Given the description of an element on the screen output the (x, y) to click on. 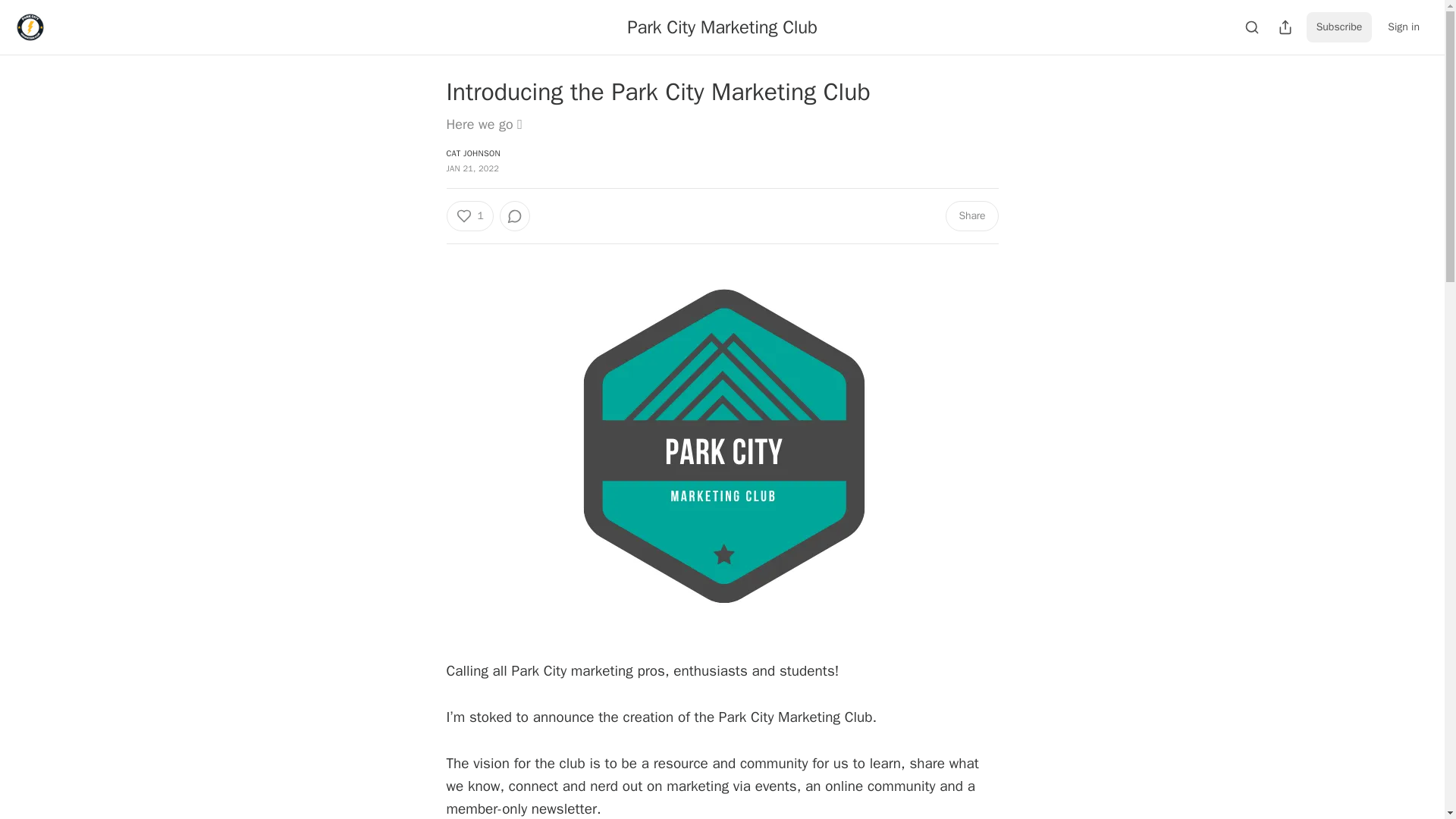
Subscribe (1339, 27)
Park City Marketing Club (721, 26)
Share (970, 215)
Sign in (1403, 27)
1 (469, 215)
CAT JOHNSON (472, 153)
